Given the description of an element on the screen output the (x, y) to click on. 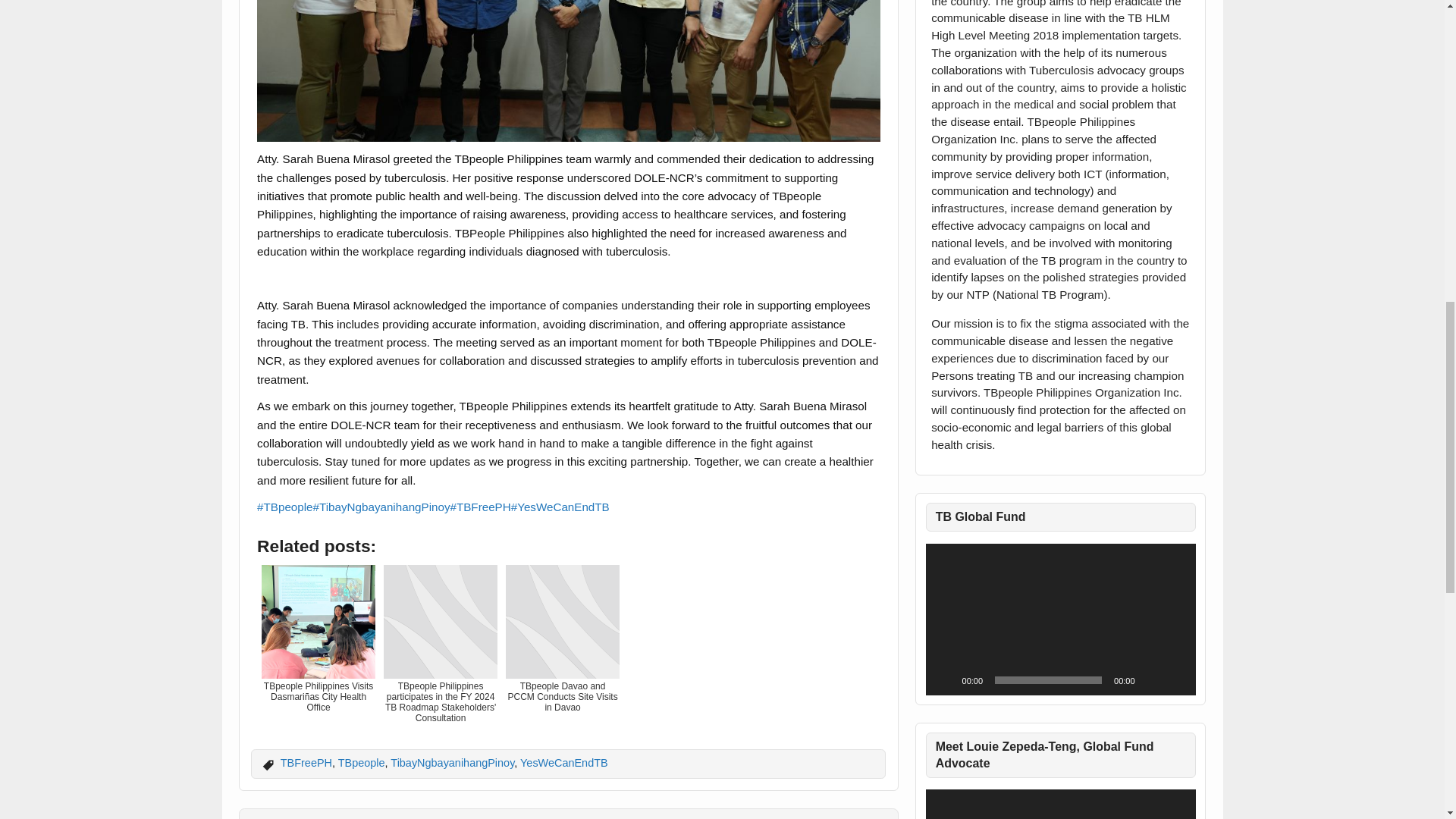
Fullscreen (1176, 679)
Play (945, 679)
Mute (1151, 679)
